Given the description of an element on the screen output the (x, y) to click on. 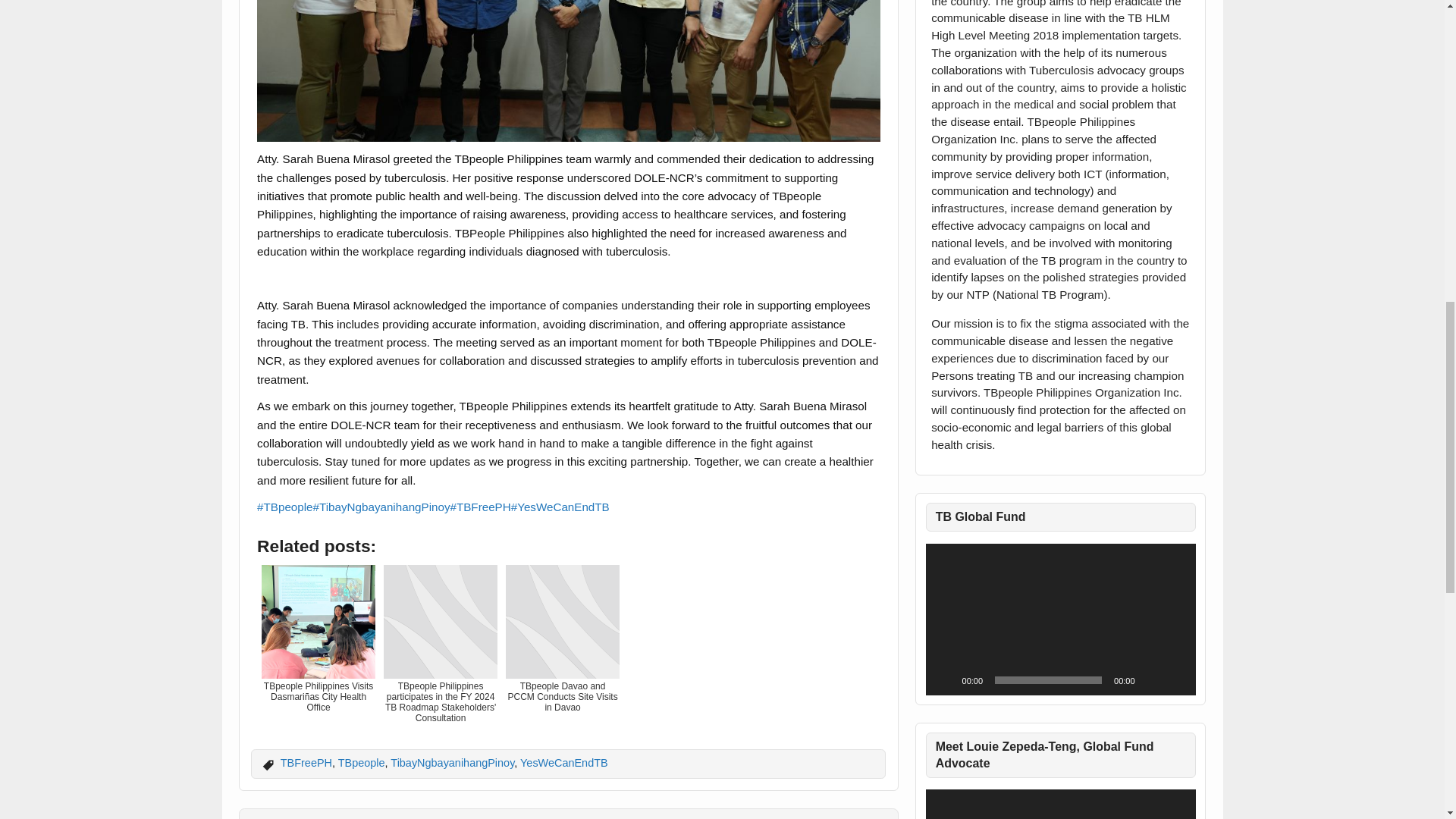
Fullscreen (1176, 679)
Play (945, 679)
Mute (1151, 679)
